Given the description of an element on the screen output the (x, y) to click on. 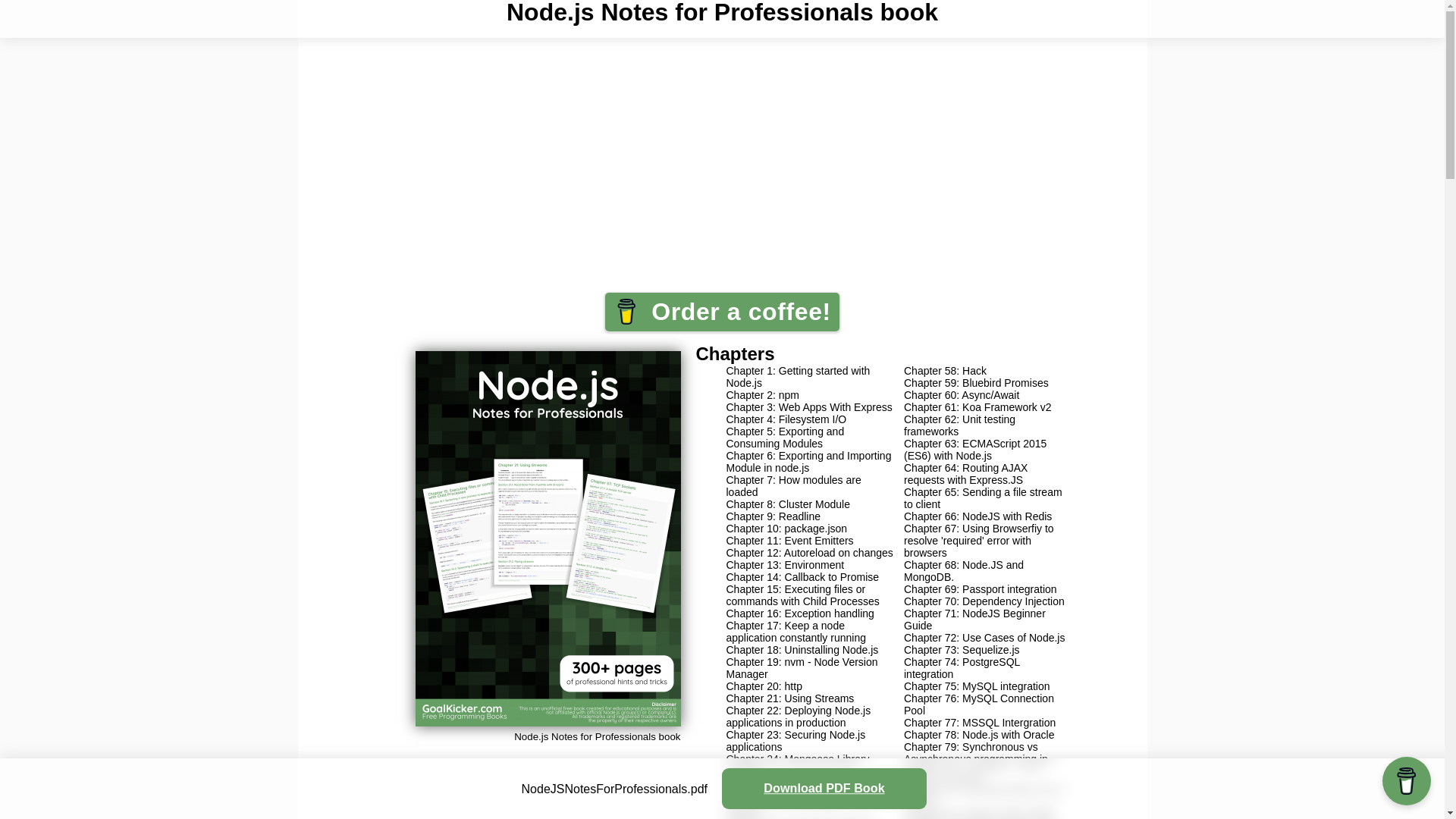
Download PDF Book (835, 791)
Order a coffee! (722, 311)
